Given the description of an element on the screen output the (x, y) to click on. 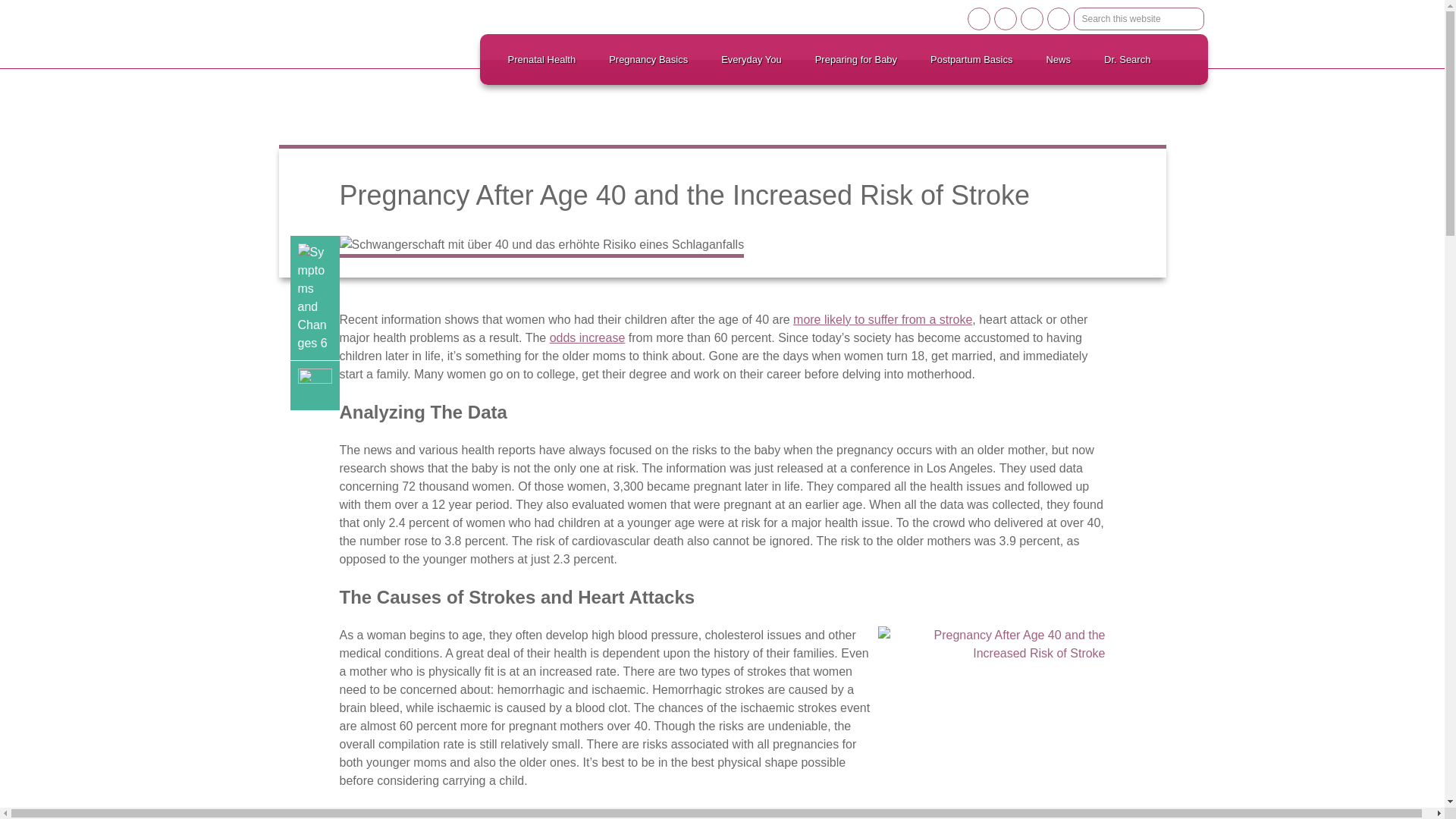
Pregnancy Basics (648, 59)
Prenatal Health (542, 59)
Preparing for Baby (855, 59)
Dr. Search (1127, 59)
Postpartum Basics (971, 59)
odds increase (588, 337)
News (1058, 59)
more likely to suffer from a stroke (882, 318)
Healthy Pregnancy (349, 30)
Everyday You (750, 59)
